Given the description of an element on the screen output the (x, y) to click on. 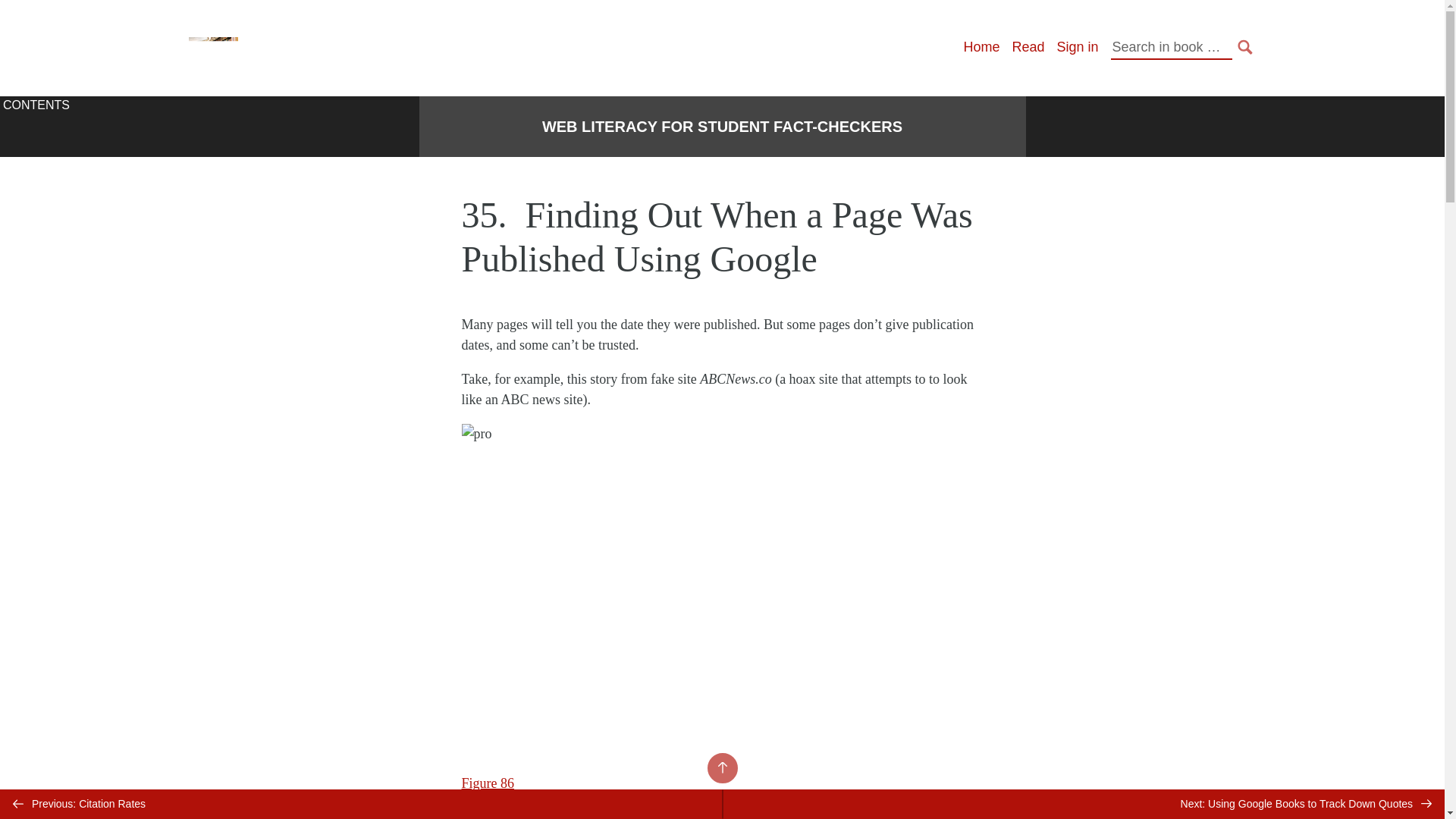
Home (980, 46)
Sign in (1077, 46)
Previous: Citation Rates (361, 804)
Previous: Citation Rates (361, 804)
WEB LITERACY FOR STUDENT FACT-CHECKERS (721, 126)
BACK TO TOP (721, 767)
Figure 86 (487, 783)
Read (1027, 46)
